Given the description of an element on the screen output the (x, y) to click on. 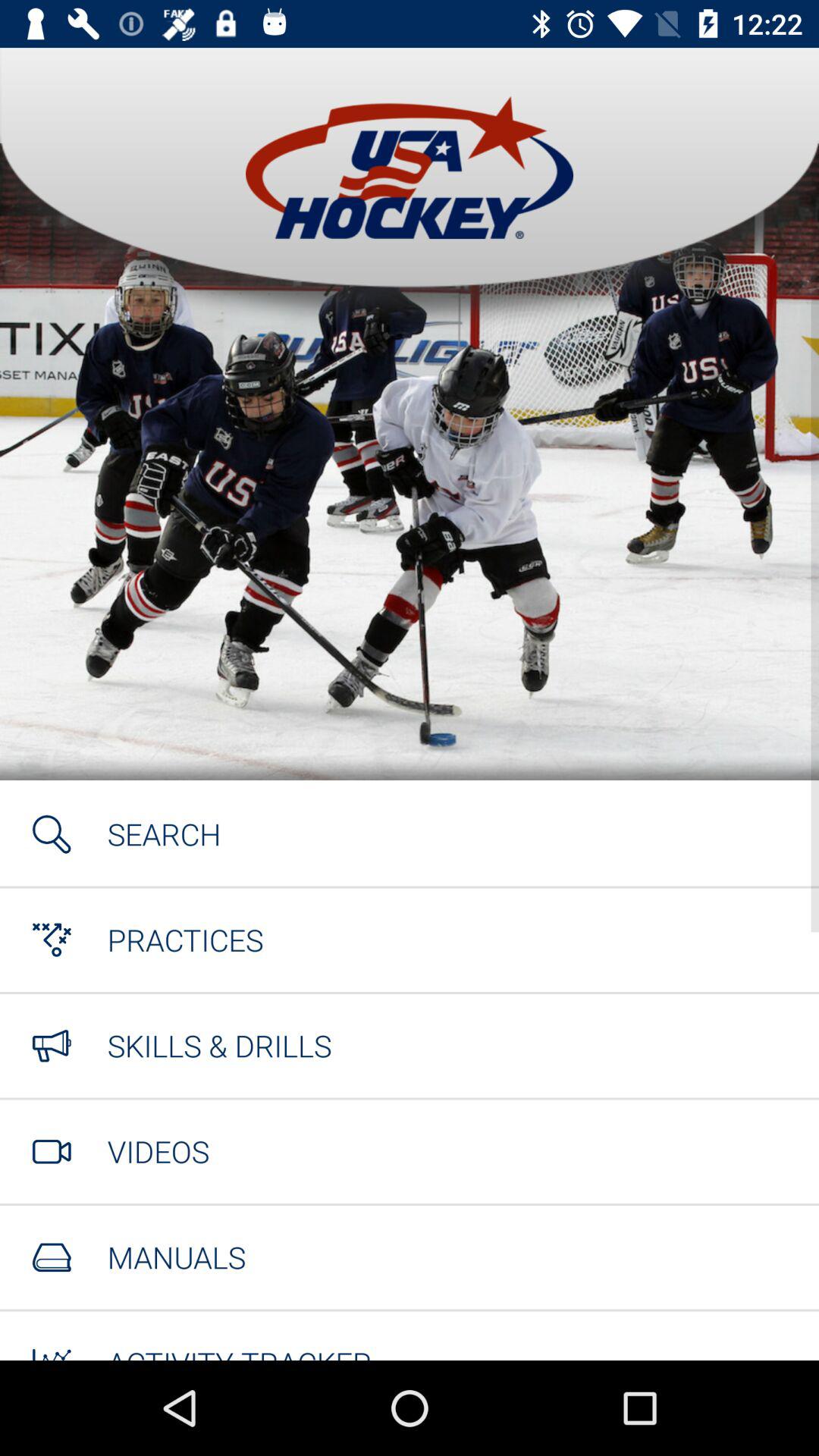
turn off activity tracker item (239, 1351)
